Given the description of an element on the screen output the (x, y) to click on. 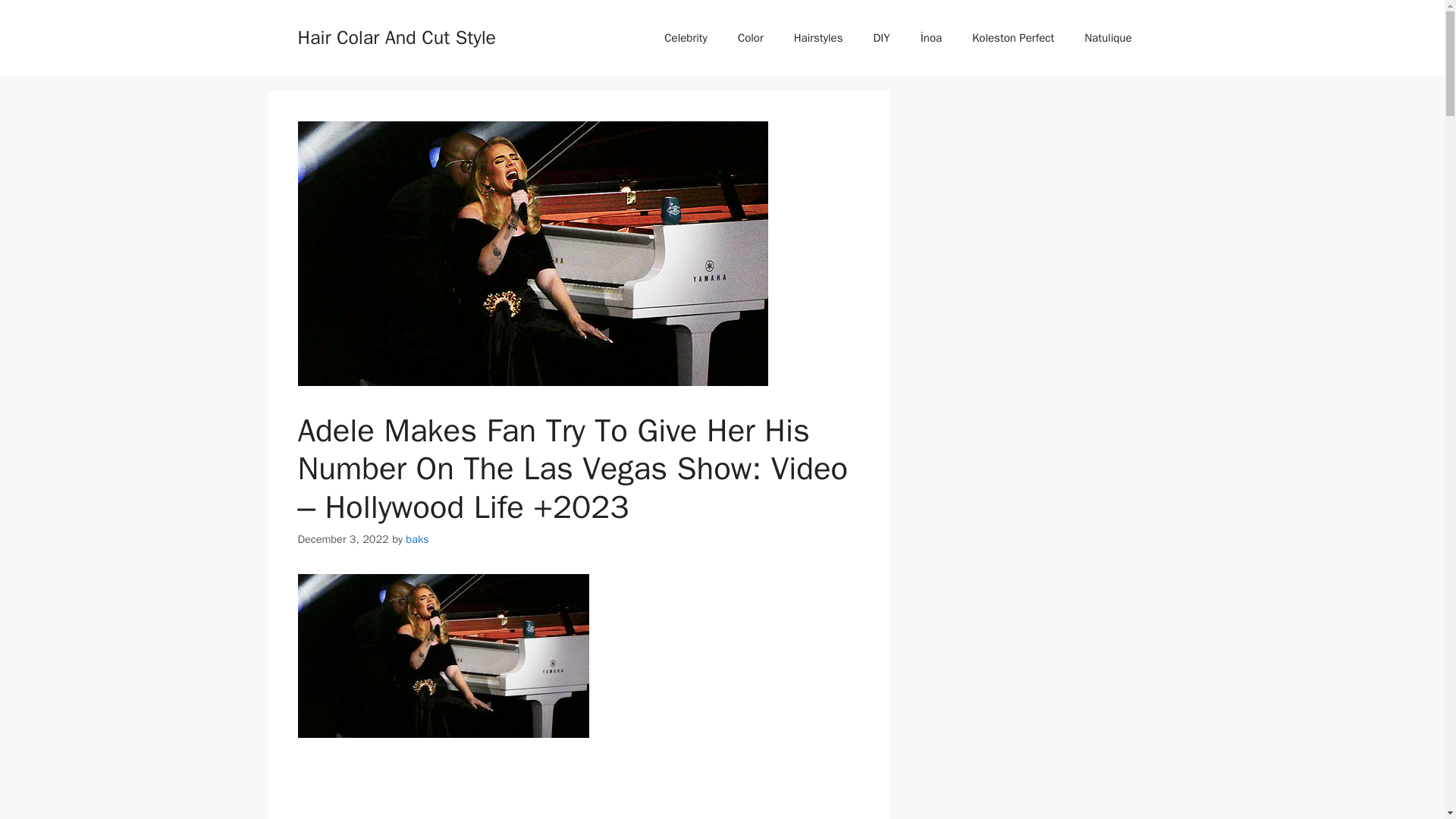
baks (417, 539)
Hairstyles (818, 37)
DIY (880, 37)
Koleston Perfect (1012, 37)
Celebrity (685, 37)
Natulique (1107, 37)
Hair Colar And Cut Style (396, 37)
Color (750, 37)
View all posts by baks (417, 539)
